Given the description of an element on the screen output the (x, y) to click on. 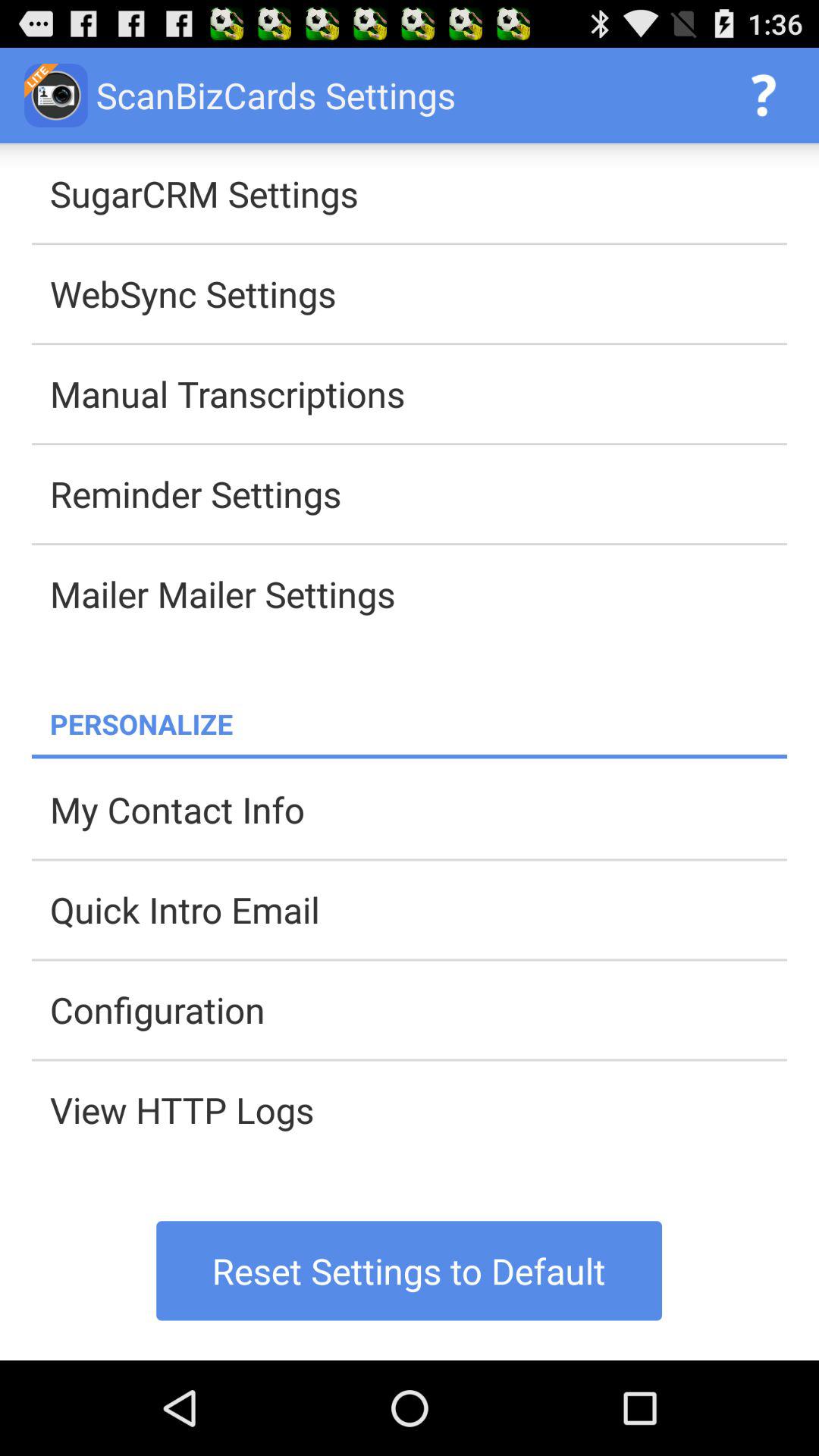
tap icon below my contact info app (418, 909)
